Given the description of an element on the screen output the (x, y) to click on. 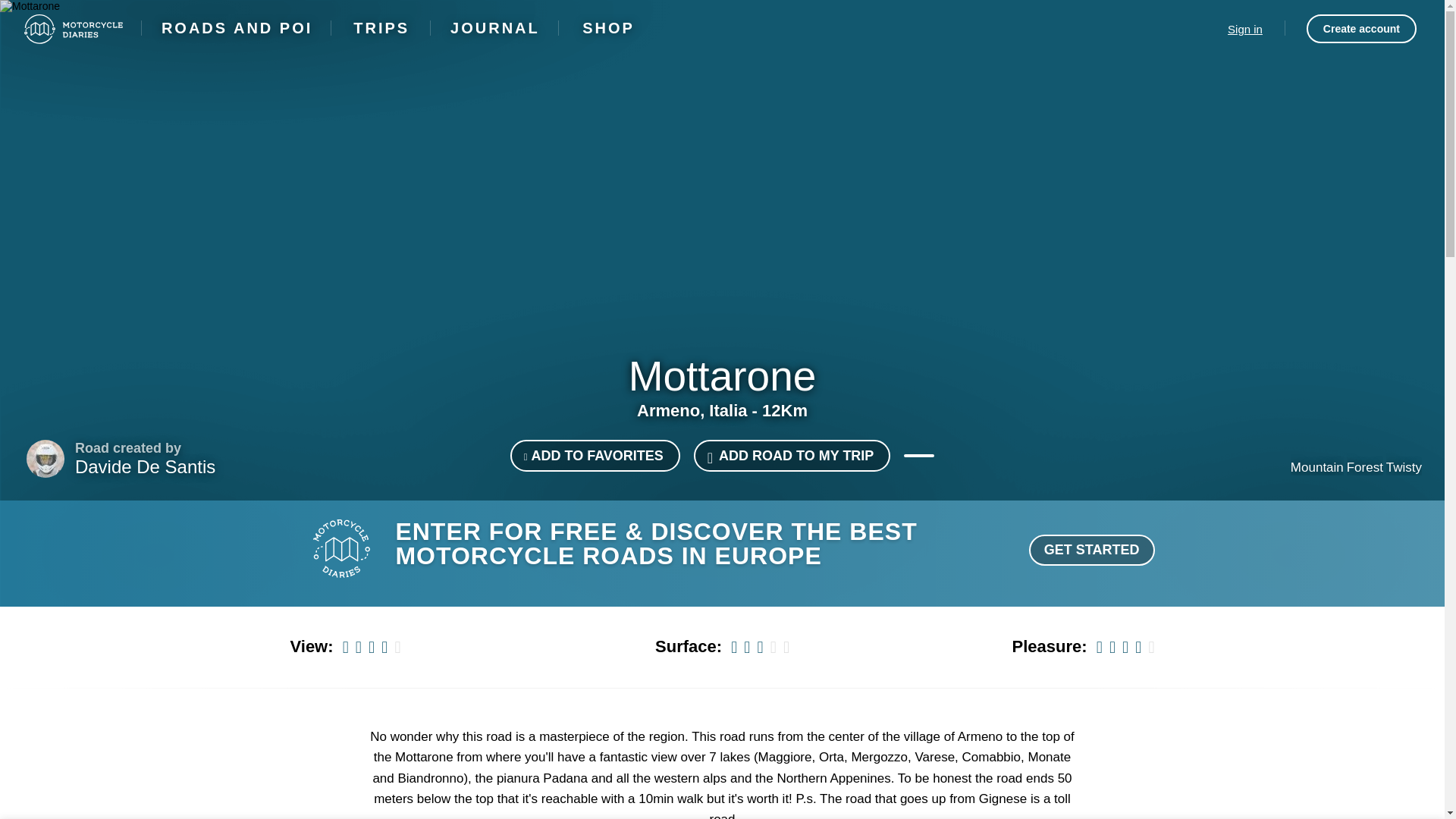
Create account (1361, 28)
JOURNAL (494, 28)
Mountain (1316, 460)
Davide De Santis (45, 458)
SHOP (608, 28)
ADD ROAD TO MY TRIP (792, 455)
Forest (1364, 442)
Sign in (1244, 29)
GET STARTED (1091, 549)
Twisty (1403, 442)
Twisty (1404, 460)
Mountain (1316, 442)
ADD TO FAVORITES (595, 455)
Davide De Santis (145, 466)
ROADS AND POI (236, 28)
